Given the description of an element on the screen output the (x, y) to click on. 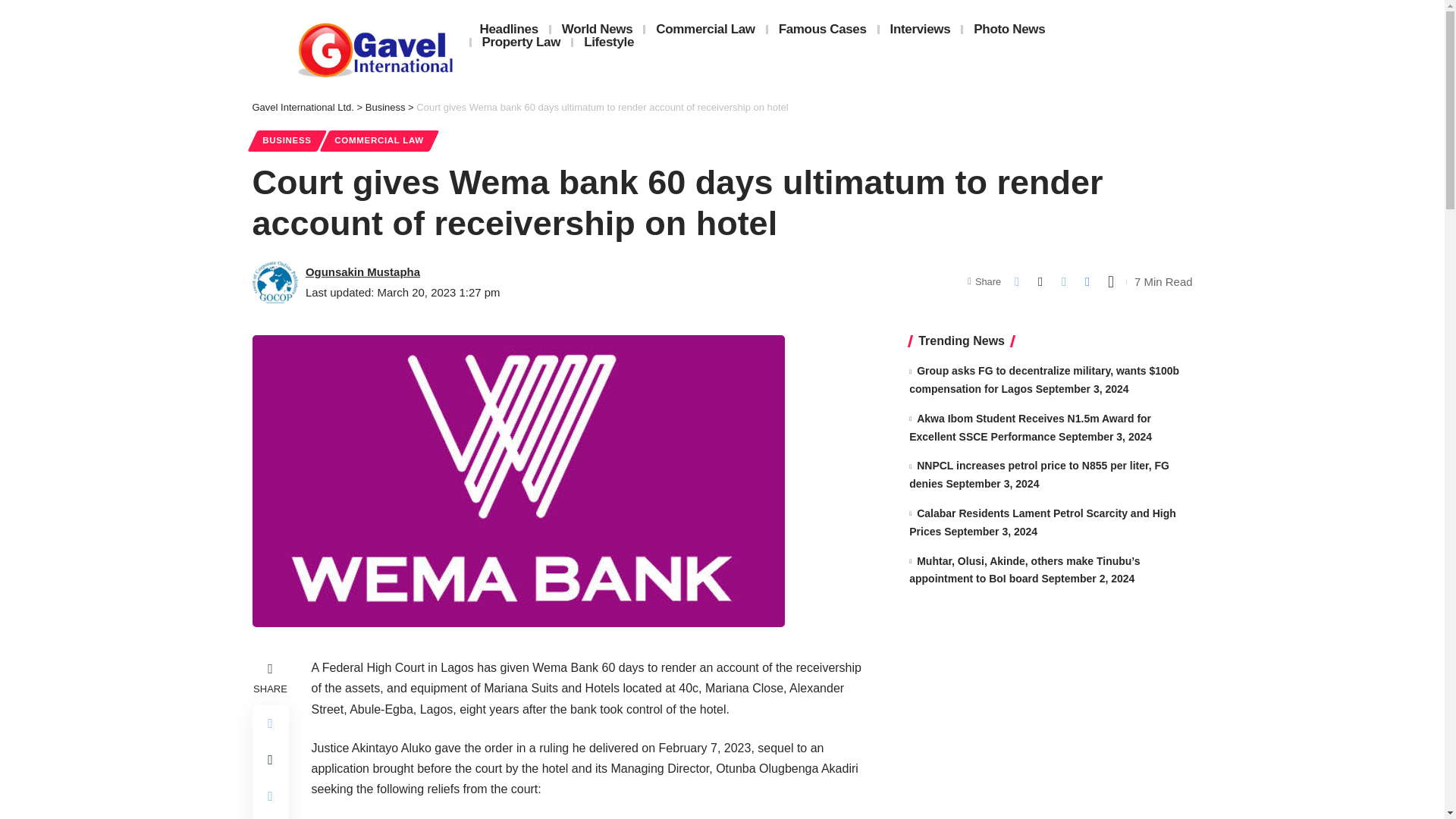
Lifestyle (609, 42)
Gavel International Ltd. (302, 107)
Commercial Law (705, 29)
Ogunsakin Mustapha (362, 271)
Headlines (508, 29)
Business (385, 107)
Go to the Business Category archives. (385, 107)
COMMERCIAL LAW (378, 140)
Go to Gavel International Ltd.. (302, 107)
Famous Cases (822, 29)
